Given the description of an element on the screen output the (x, y) to click on. 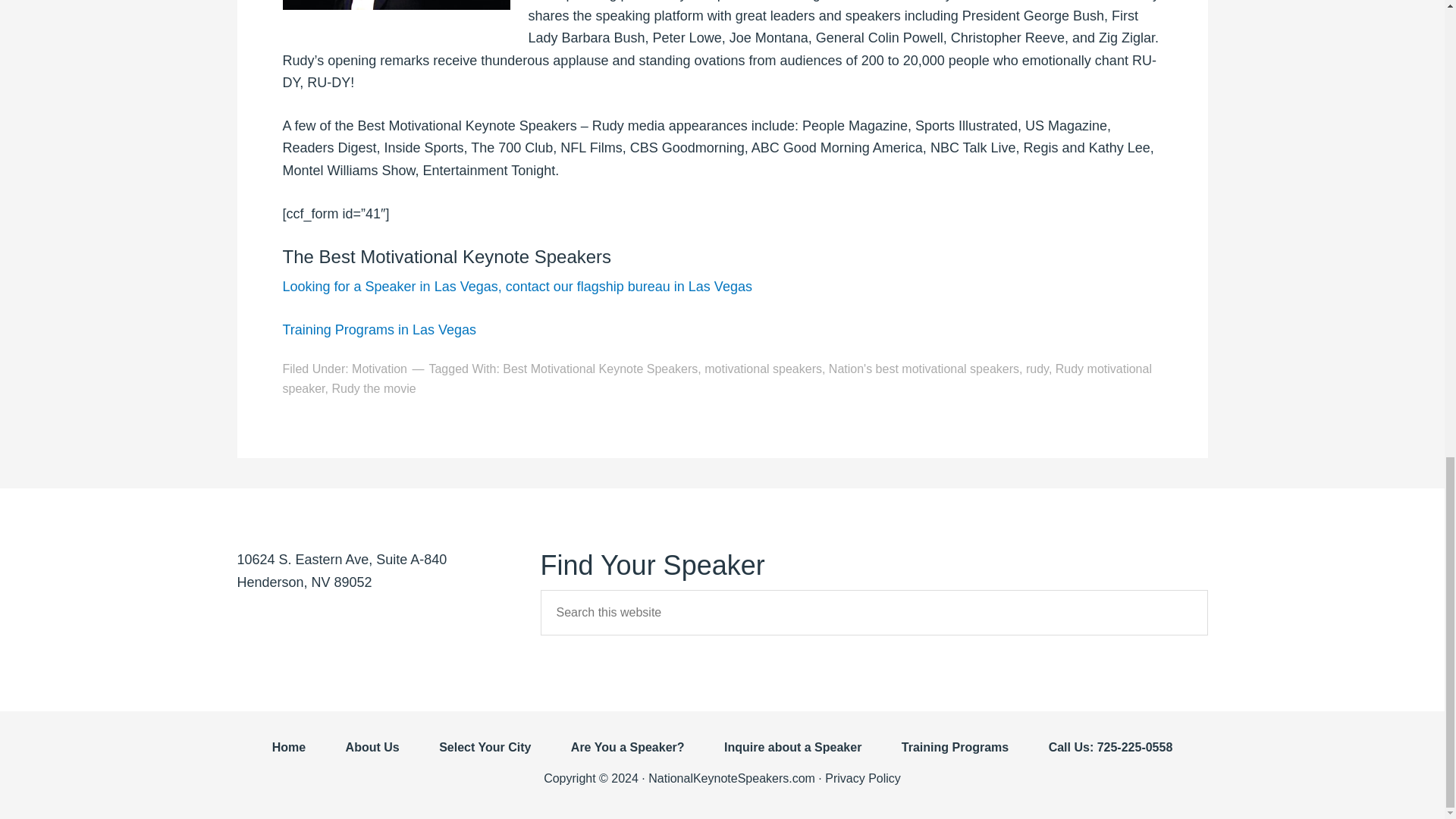
Motivation (379, 368)
Are You a Speaker? (628, 755)
About Us (372, 755)
Rudy motivational speaker (716, 378)
Rudy the movie (372, 388)
rudy (1037, 368)
Training Programs in Las Vegas (379, 329)
motivational speakers (763, 368)
Select Your City (484, 755)
